Given the description of an element on the screen output the (x, y) to click on. 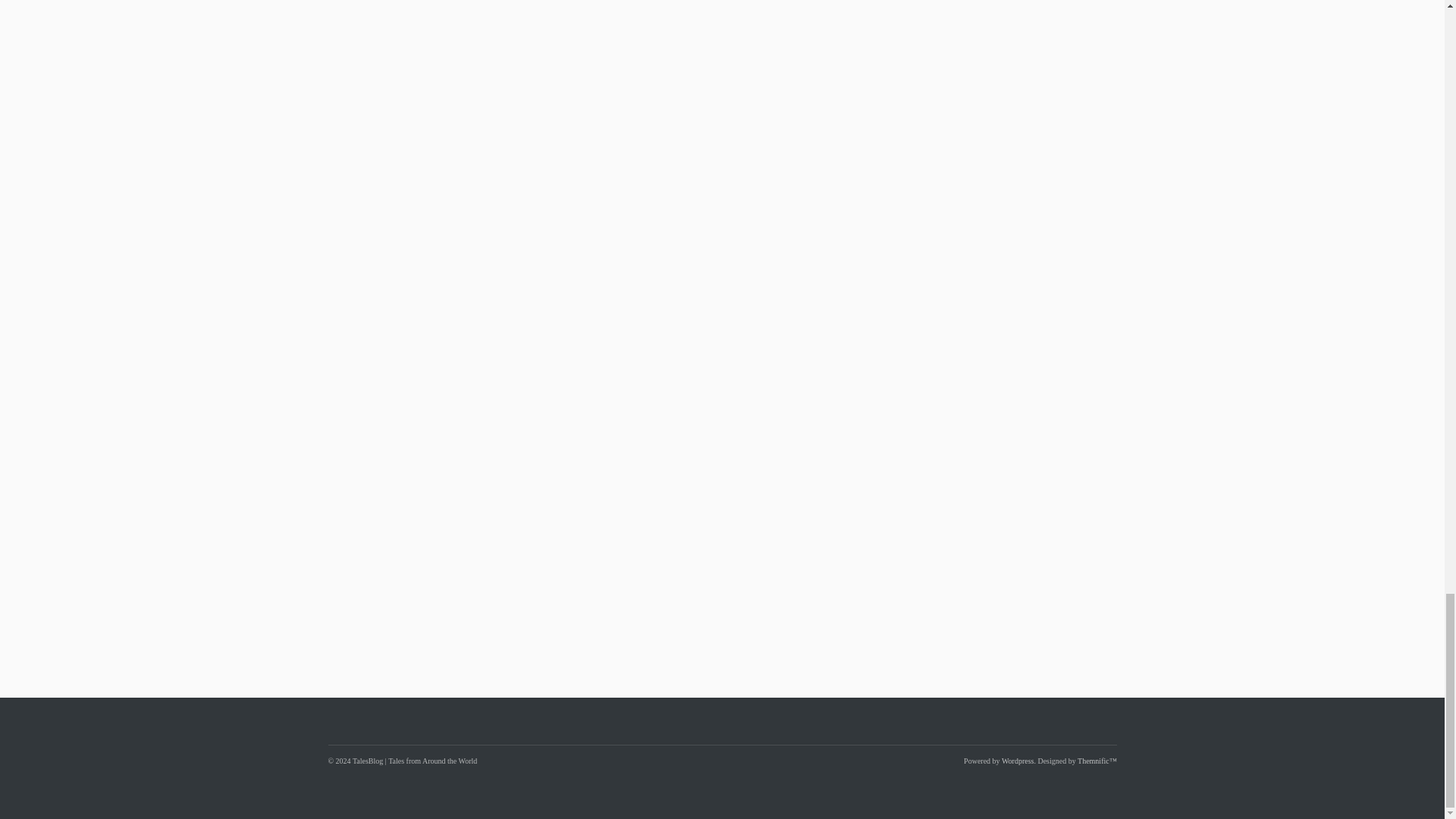
Wordpress (1017, 760)
